Given the description of an element on the screen output the (x, y) to click on. 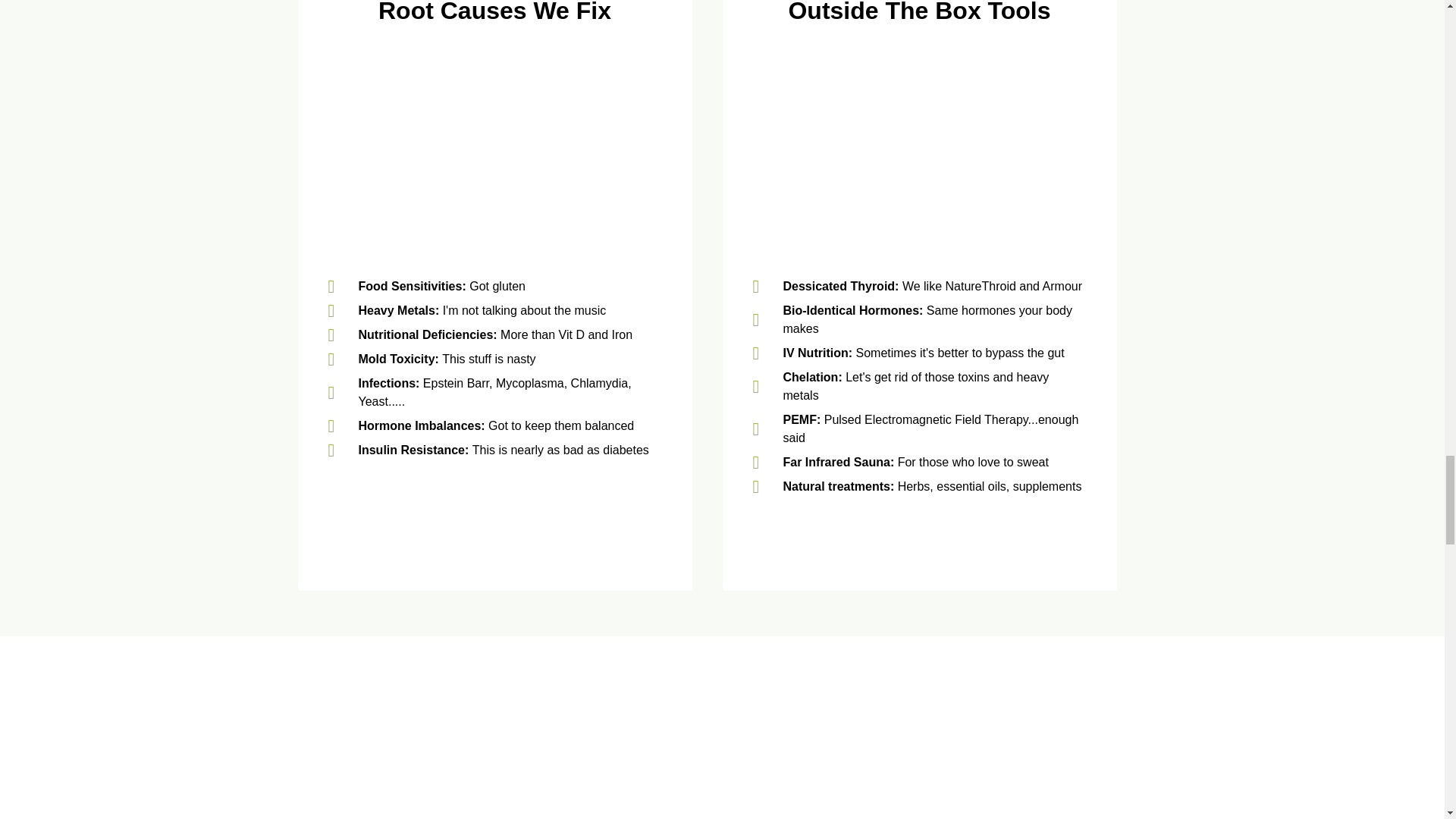
Home (357, 787)
Home (1085, 787)
Home (494, 147)
Home (721, 787)
Home (919, 147)
